Given the description of an element on the screen output the (x, y) to click on. 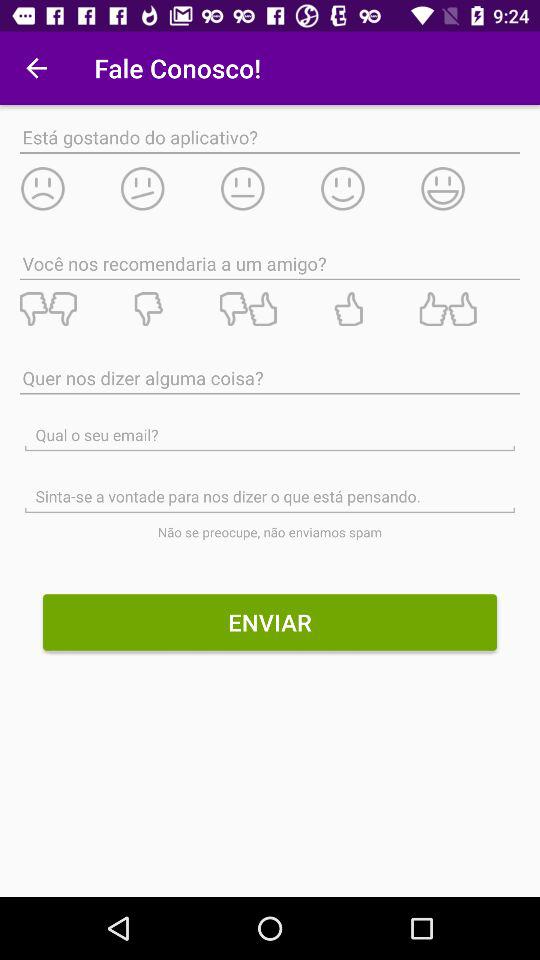
enable auto play (369, 188)
